Given the description of an element on the screen output the (x, y) to click on. 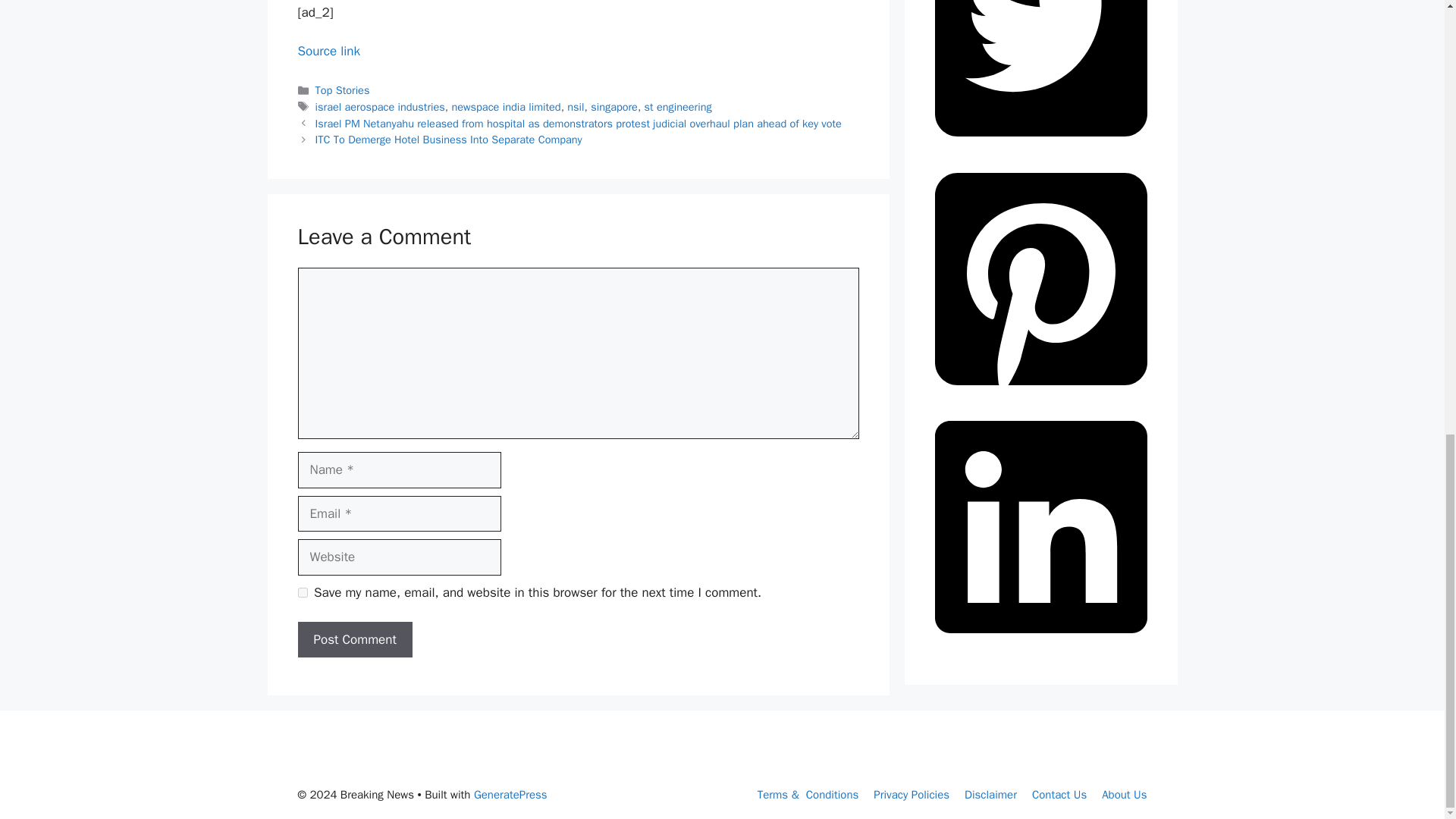
newspace india limited (505, 106)
nsil (575, 106)
GeneratePress (510, 794)
yes (302, 592)
Top Stories (342, 90)
Post Comment (354, 639)
ITC To Demerge Hotel Business Into Separate Company (448, 139)
Privacy Policies (911, 794)
singapore (614, 106)
About Us (1124, 794)
Contact Us (1059, 794)
Disclaimer (989, 794)
Source link (328, 50)
Post Comment (354, 639)
